Given the description of an element on the screen output the (x, y) to click on. 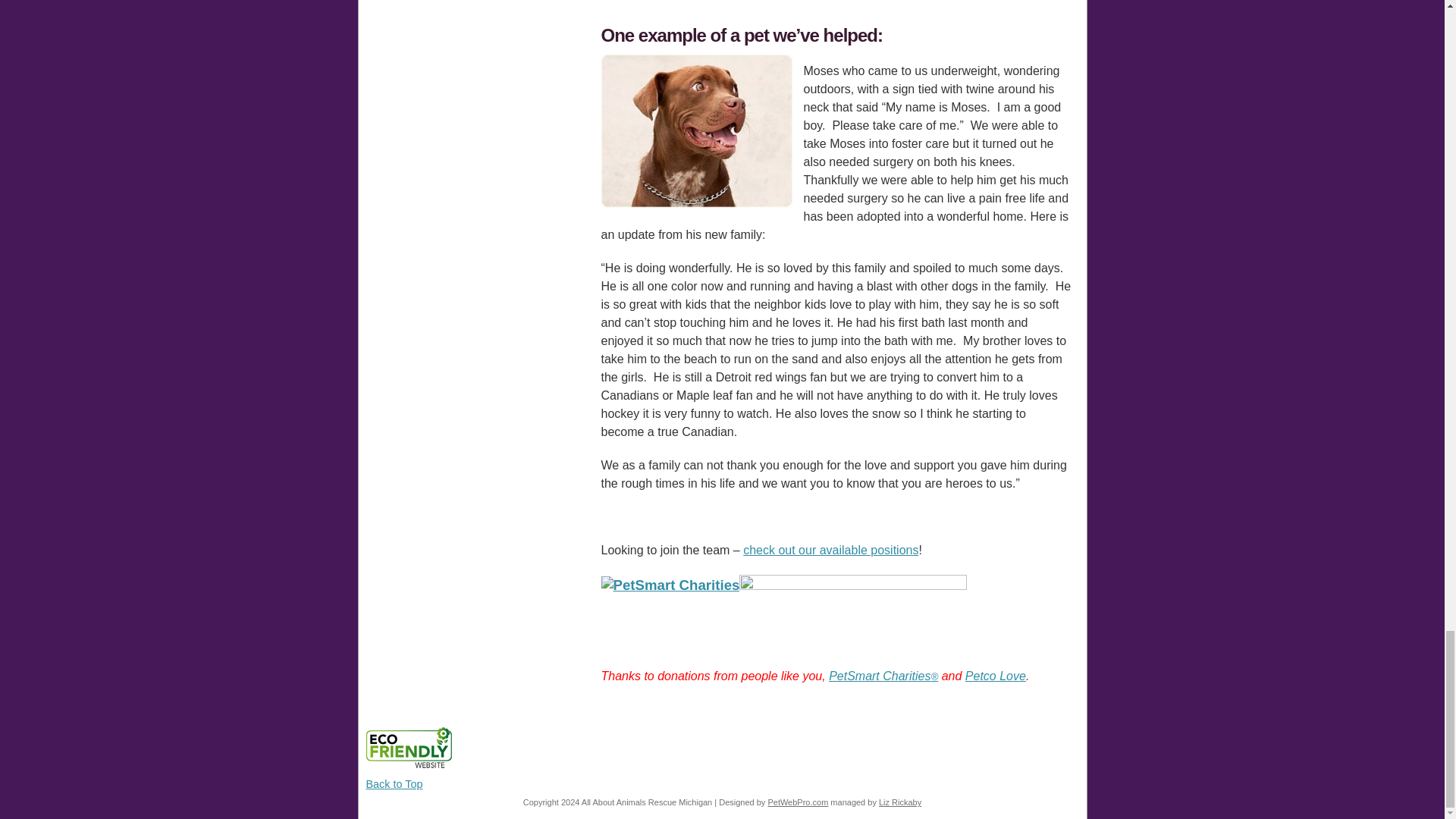
Careers (830, 549)
